Given the description of an element on the screen output the (x, y) to click on. 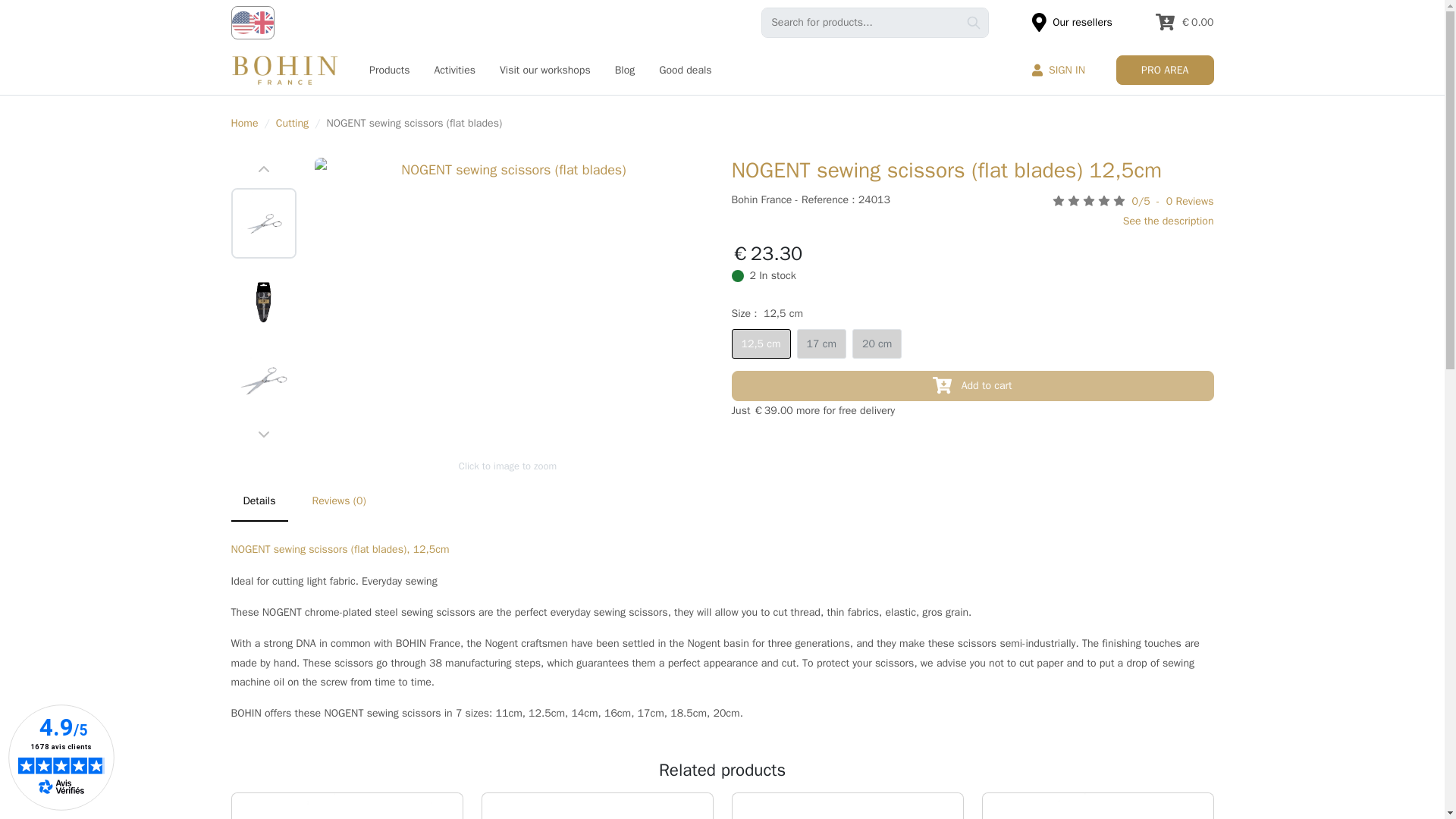
Our resellers (1072, 21)
